Given the description of an element on the screen output the (x, y) to click on. 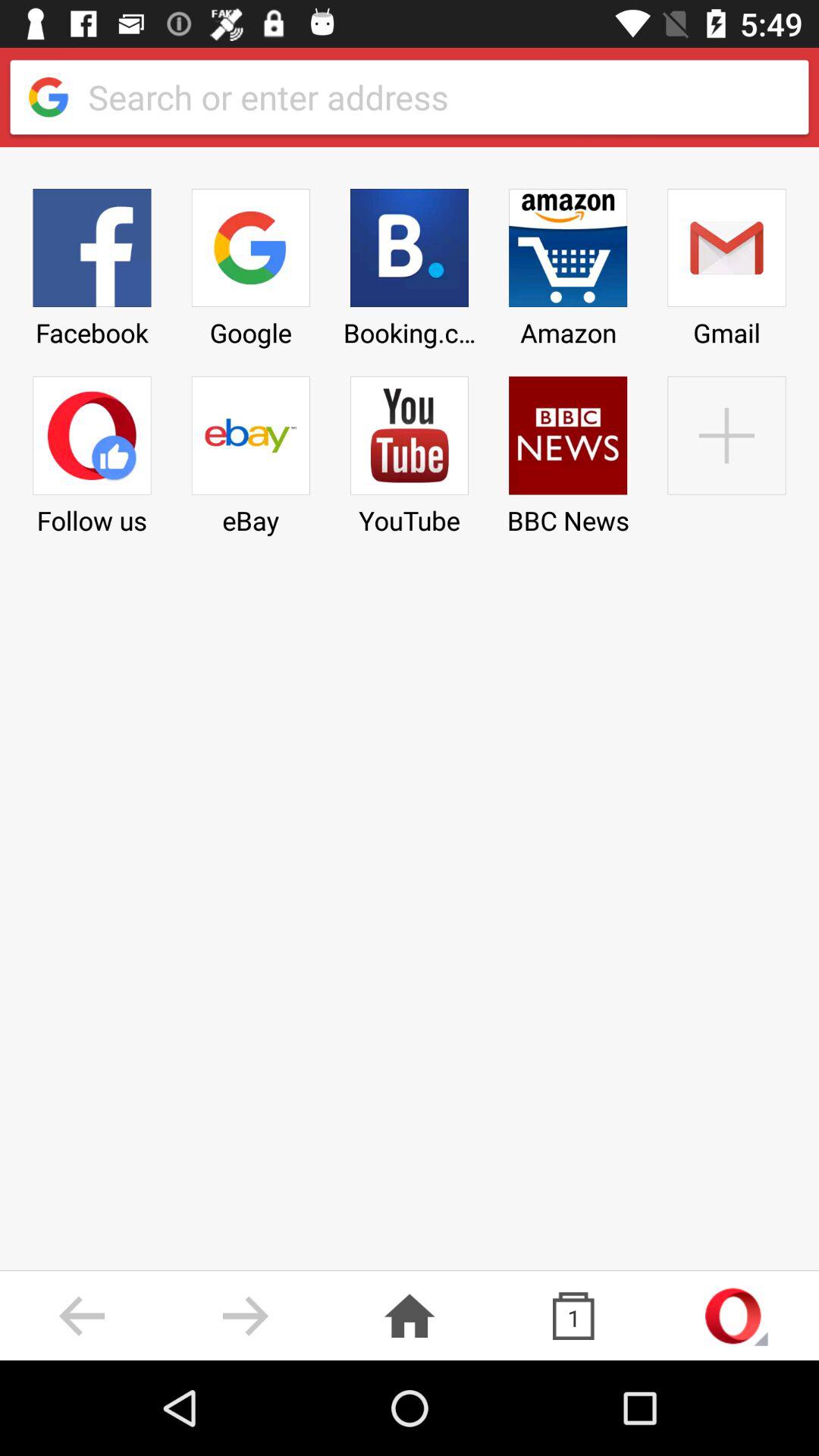
press icon above follow us (92, 262)
